Given the description of an element on the screen output the (x, y) to click on. 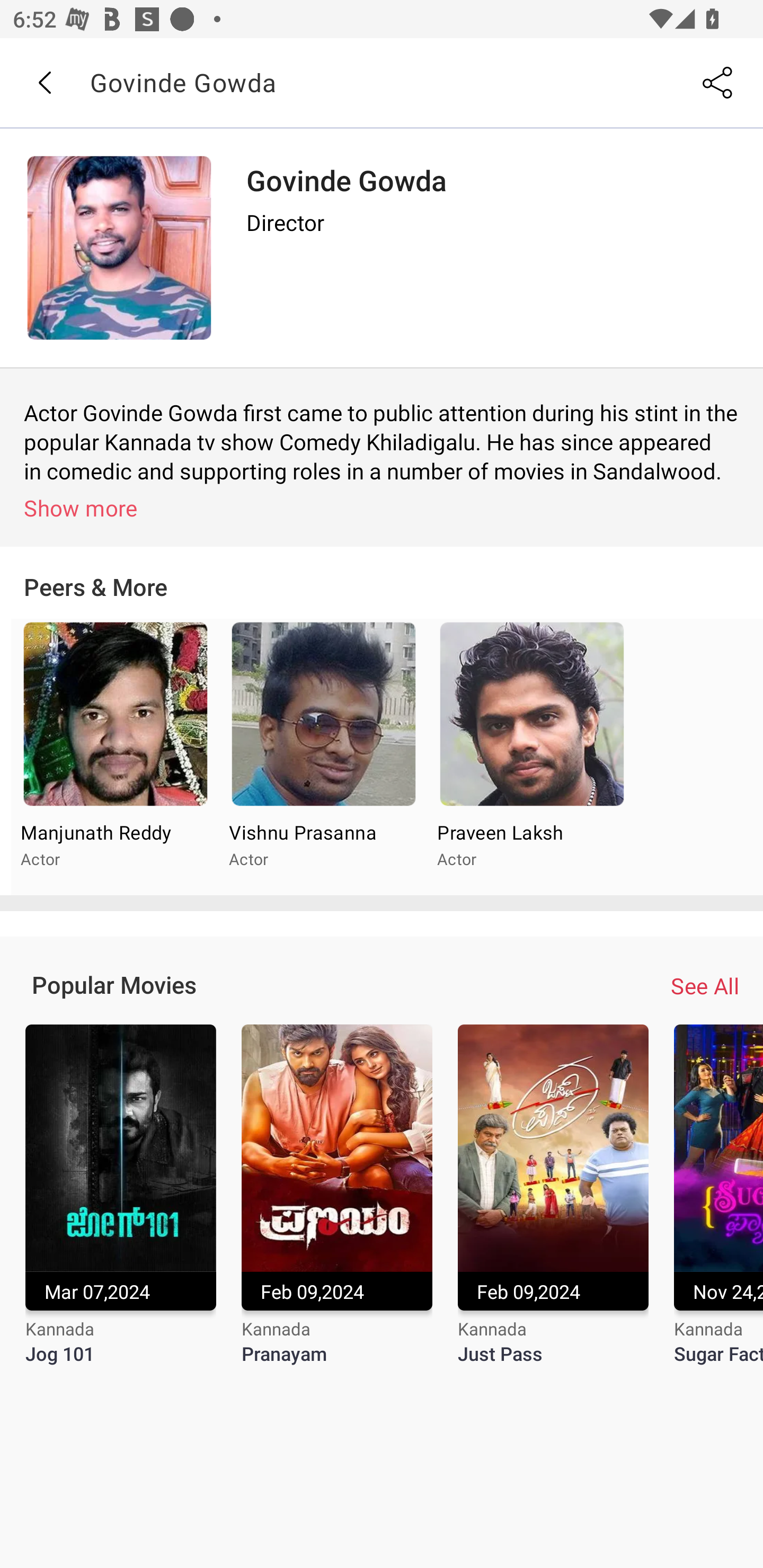
Back (44, 82)
Show more (384, 507)
Manjunath Reddy Actor (115, 757)
Vishnu Prasanna Actor (323, 757)
Praveen Laksh Actor (531, 757)
See All (704, 985)
Mar 07,2024 Kannada Jog 101 (120, 1205)
Feb 09,2024 Kannada Pranayam (336, 1205)
Feb 09,2024 Kannada Just Pass (552, 1205)
